Given the description of an element on the screen output the (x, y) to click on. 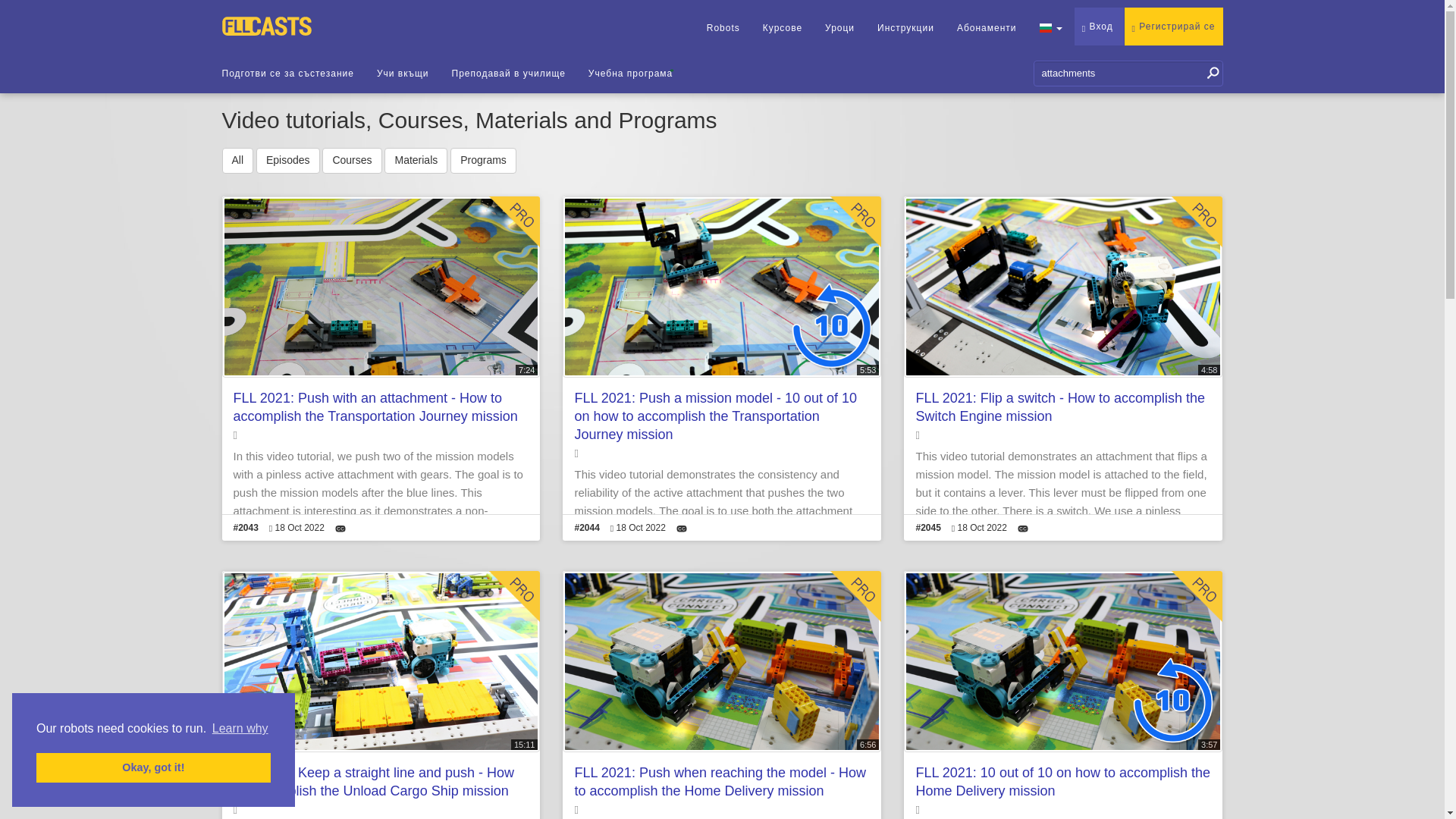
6:56 (721, 661)
15:11 (380, 661)
All (237, 160)
Learn why (239, 728)
Courses (351, 160)
4:58 (1063, 286)
translation missing: bg.Robots (722, 27)
attachments (1127, 73)
5:53 (721, 286)
7:24 (380, 286)
Episodes (288, 160)
Programs (482, 160)
